Given the description of an element on the screen output the (x, y) to click on. 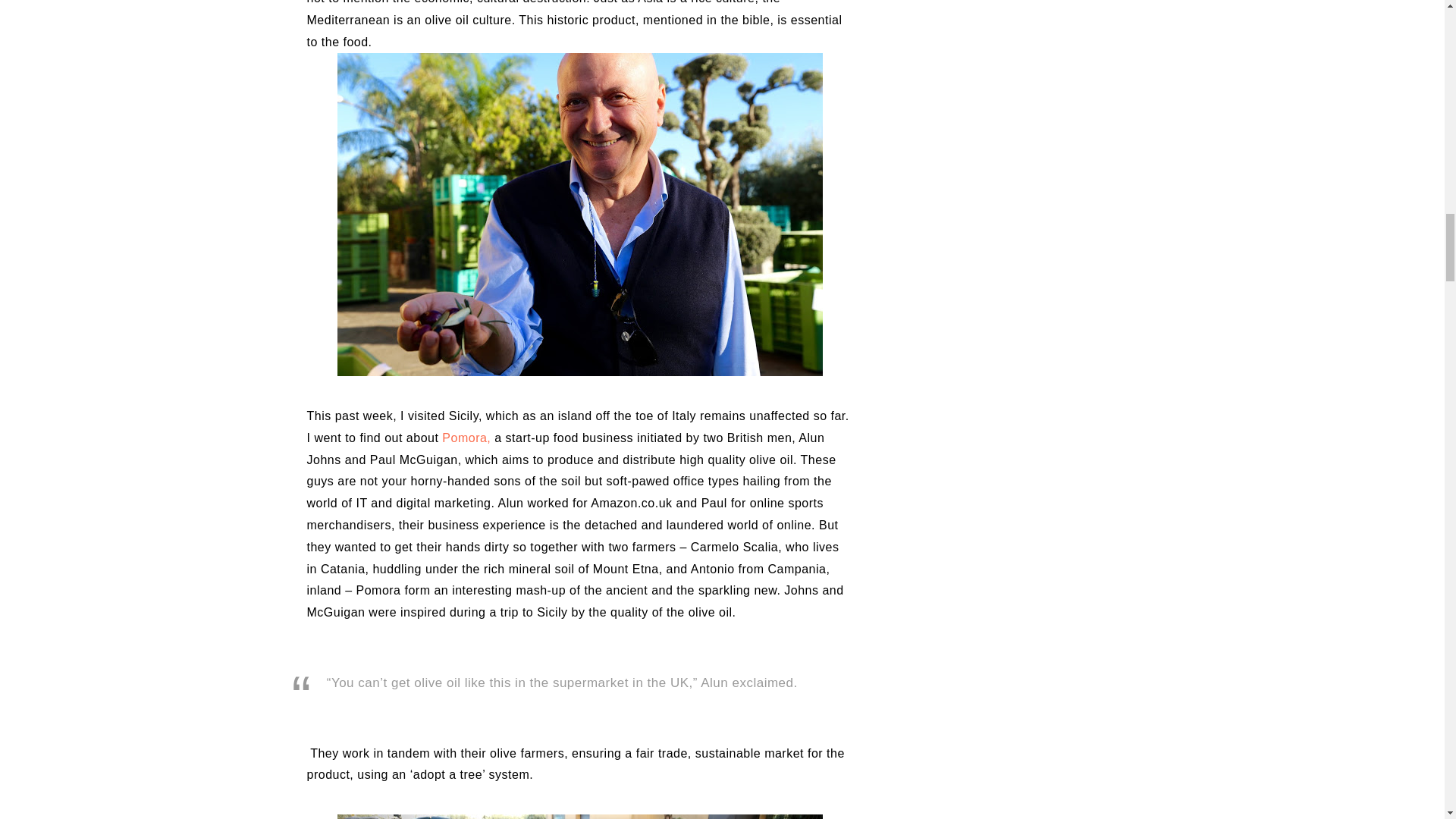
Pomora, (466, 437)
